Given the description of an element on the screen output the (x, y) to click on. 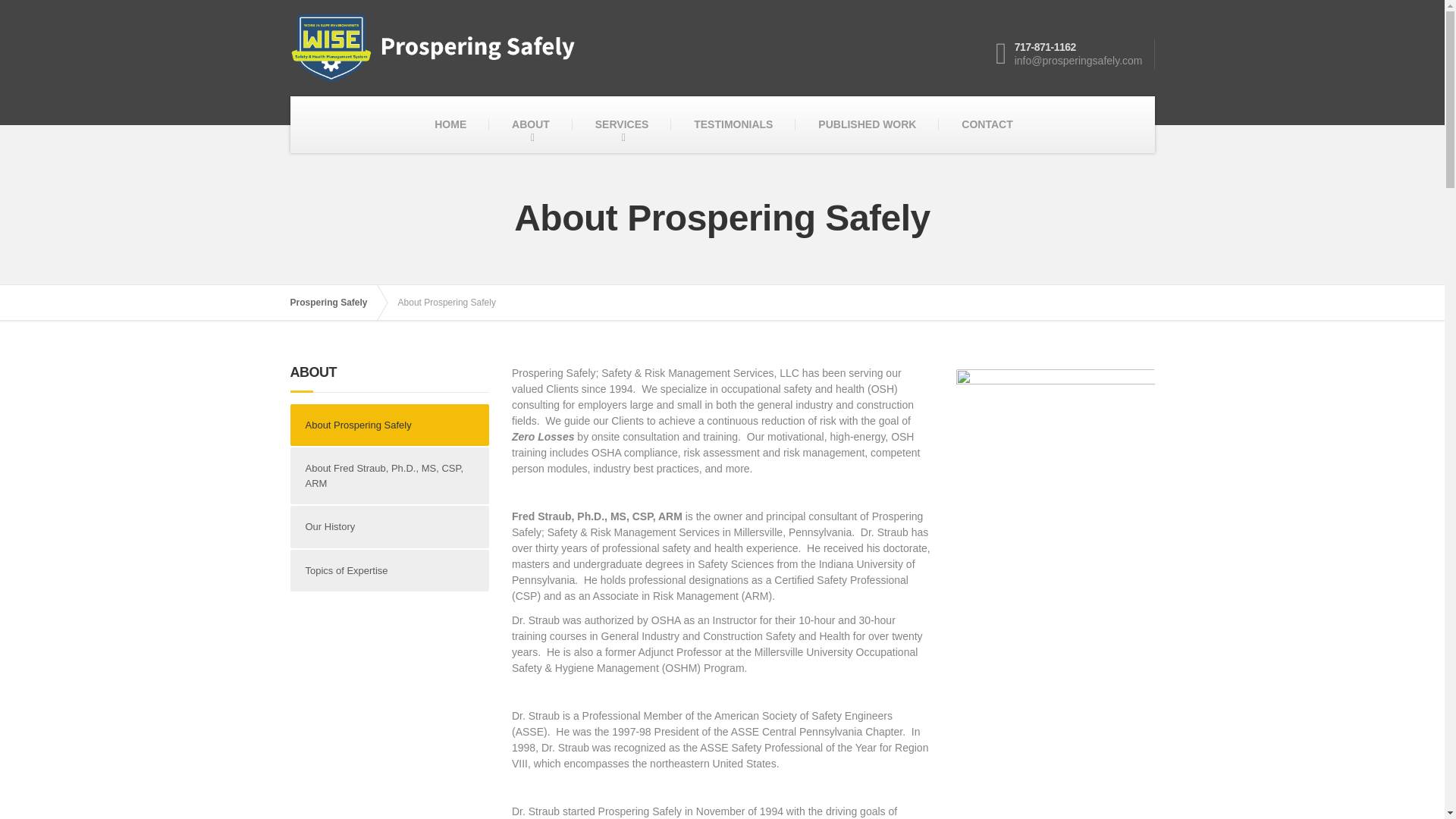
Prospering Safely (335, 302)
PUBLISHED WORK (866, 124)
TESTIMONIALS (732, 124)
SERVICES (621, 124)
CONTACT (987, 124)
Go to Prospering Safely. (335, 302)
Topics of Expertise (389, 570)
HOME (450, 124)
Our History (389, 526)
About Prospering Safely (389, 425)
